Given the description of an element on the screen output the (x, y) to click on. 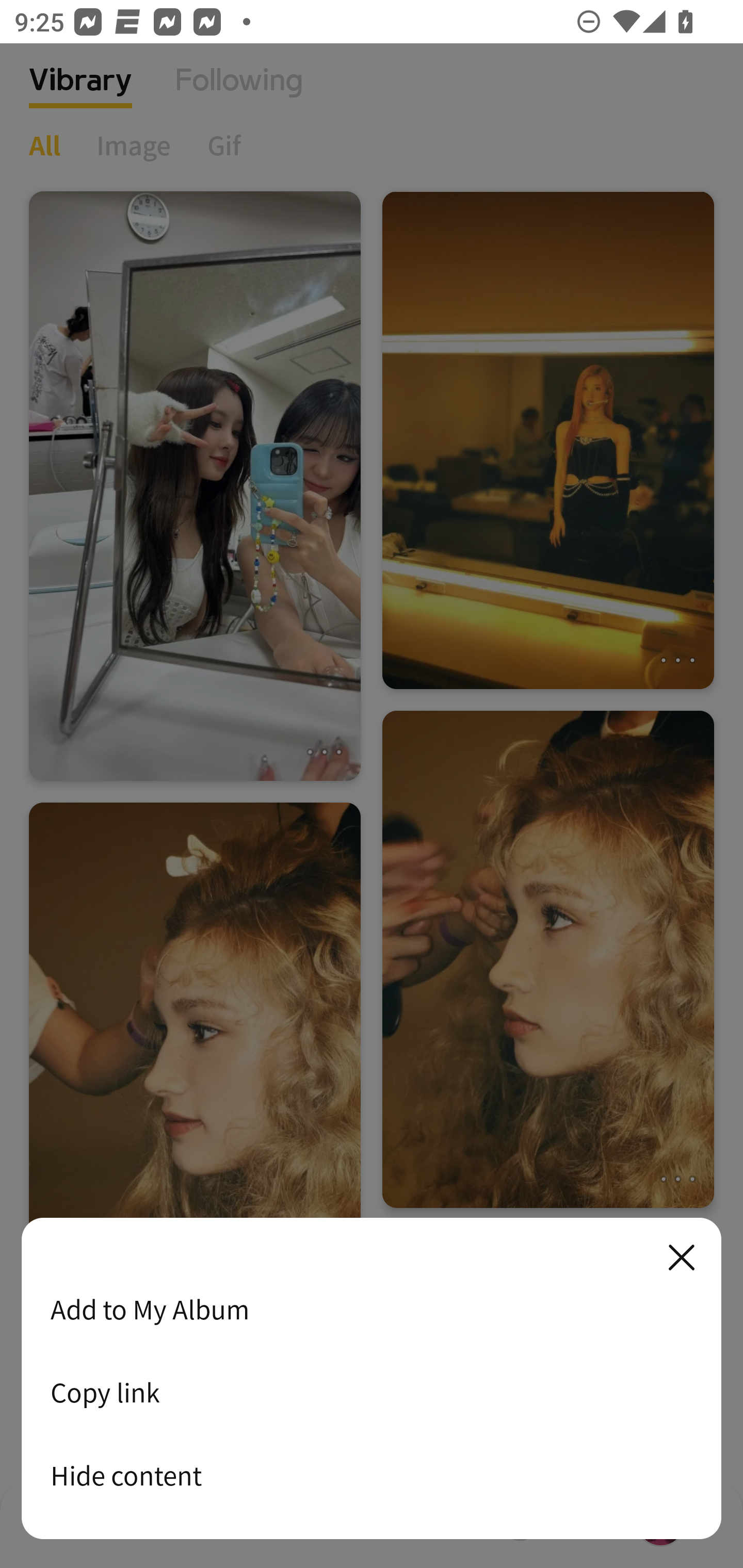
Add to My Album Copy link Hide content (371, 1378)
Add to My Album (371, 1308)
Copy link (371, 1391)
Hide content (371, 1474)
